Given the description of an element on the screen output the (x, y) to click on. 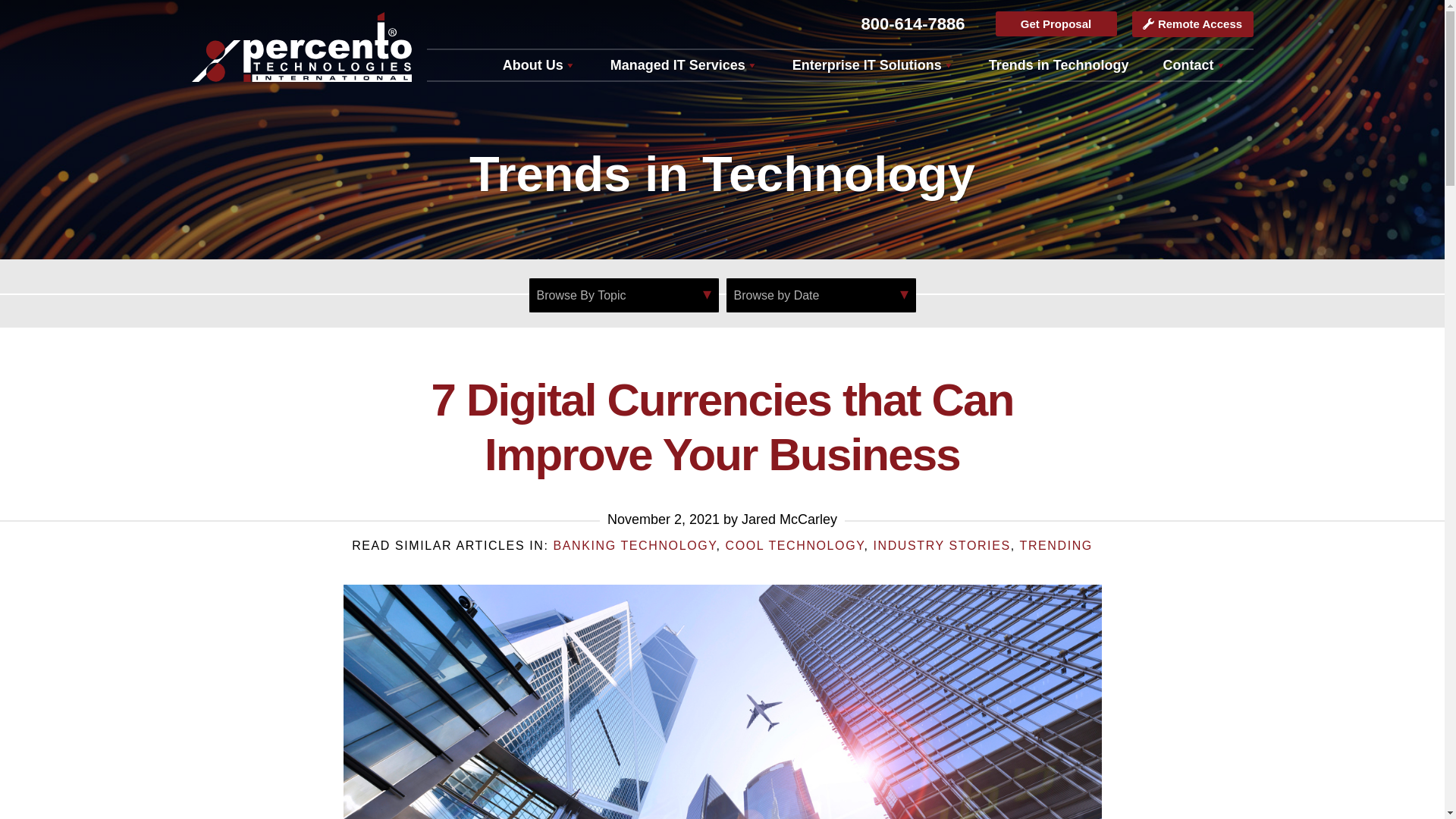
800-614-7886 (911, 23)
About Us (539, 64)
Managed IT Services (683, 64)
Get Proposal (1055, 23)
Enterprise IT Solutions (873, 64)
Remote Access (1191, 23)
